Given the description of an element on the screen output the (x, y) to click on. 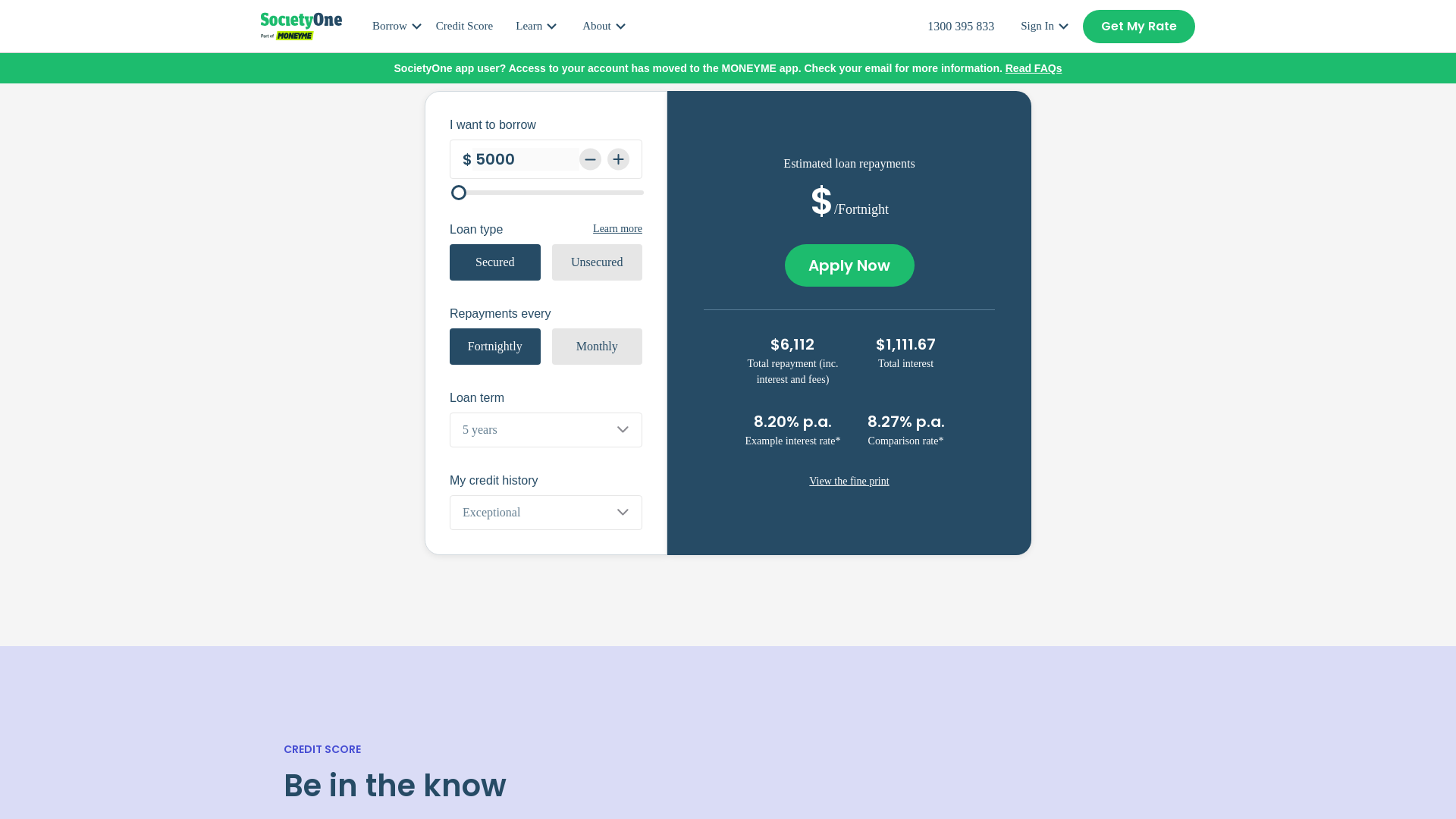
5000 (525, 159)
Fortnightly (494, 346)
Learn more (617, 228)
Secured (494, 262)
View the fine print (848, 480)
5000 (547, 192)
Monthly (597, 346)
Unsecured (597, 262)
Apply Now (848, 265)
personal loan (641, 56)
